Given the description of an element on the screen output the (x, y) to click on. 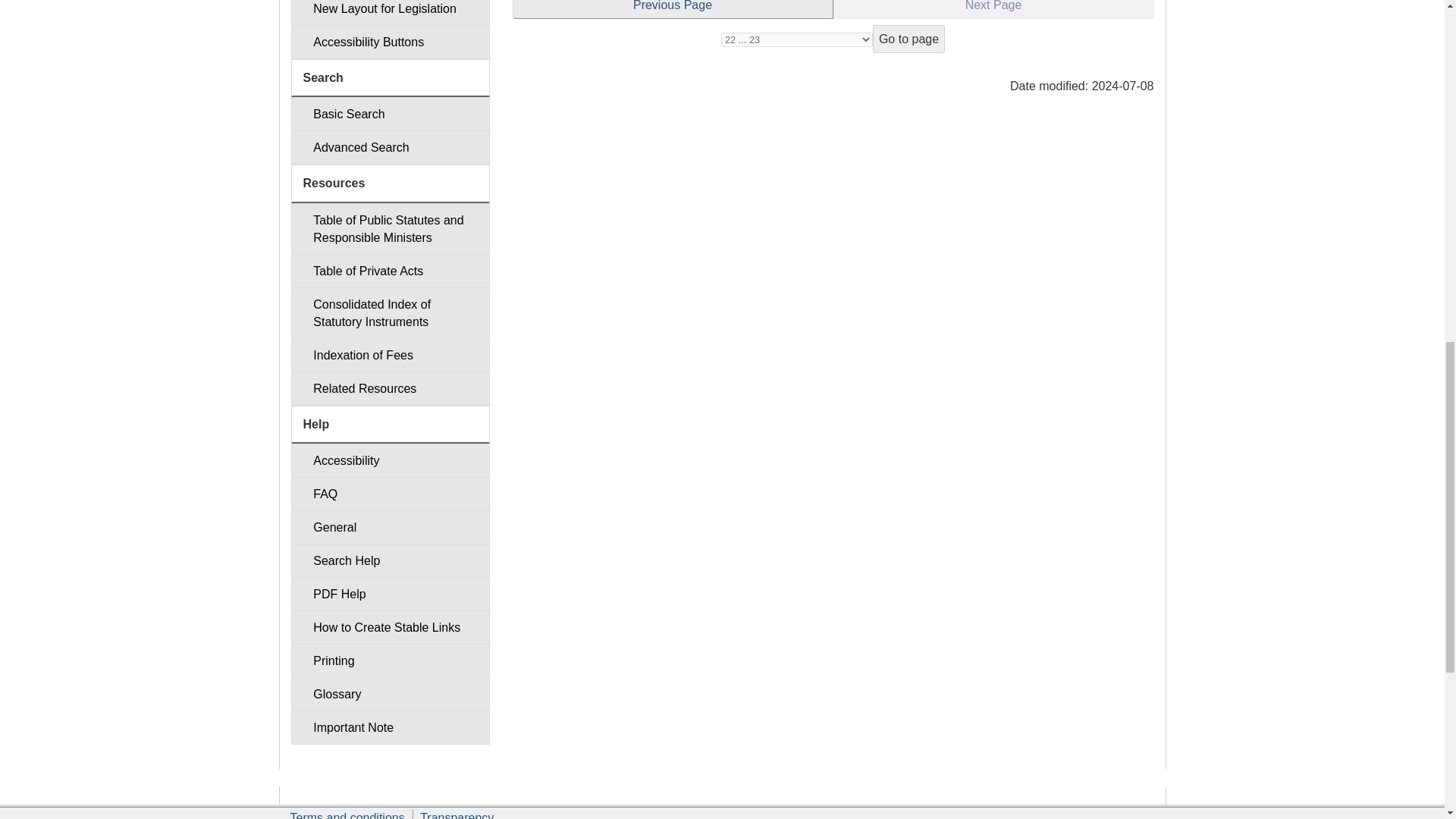
Printing Help (390, 660)
Related Resources (390, 388)
Advanced Search - Justice Laws Website (390, 147)
Accessibility Help (390, 460)
Select page (796, 39)
General Help (390, 527)
Frequently Asked Questions (390, 493)
Go to page (908, 39)
Search - Justice Laws Website (390, 114)
